Given the description of an element on the screen output the (x, y) to click on. 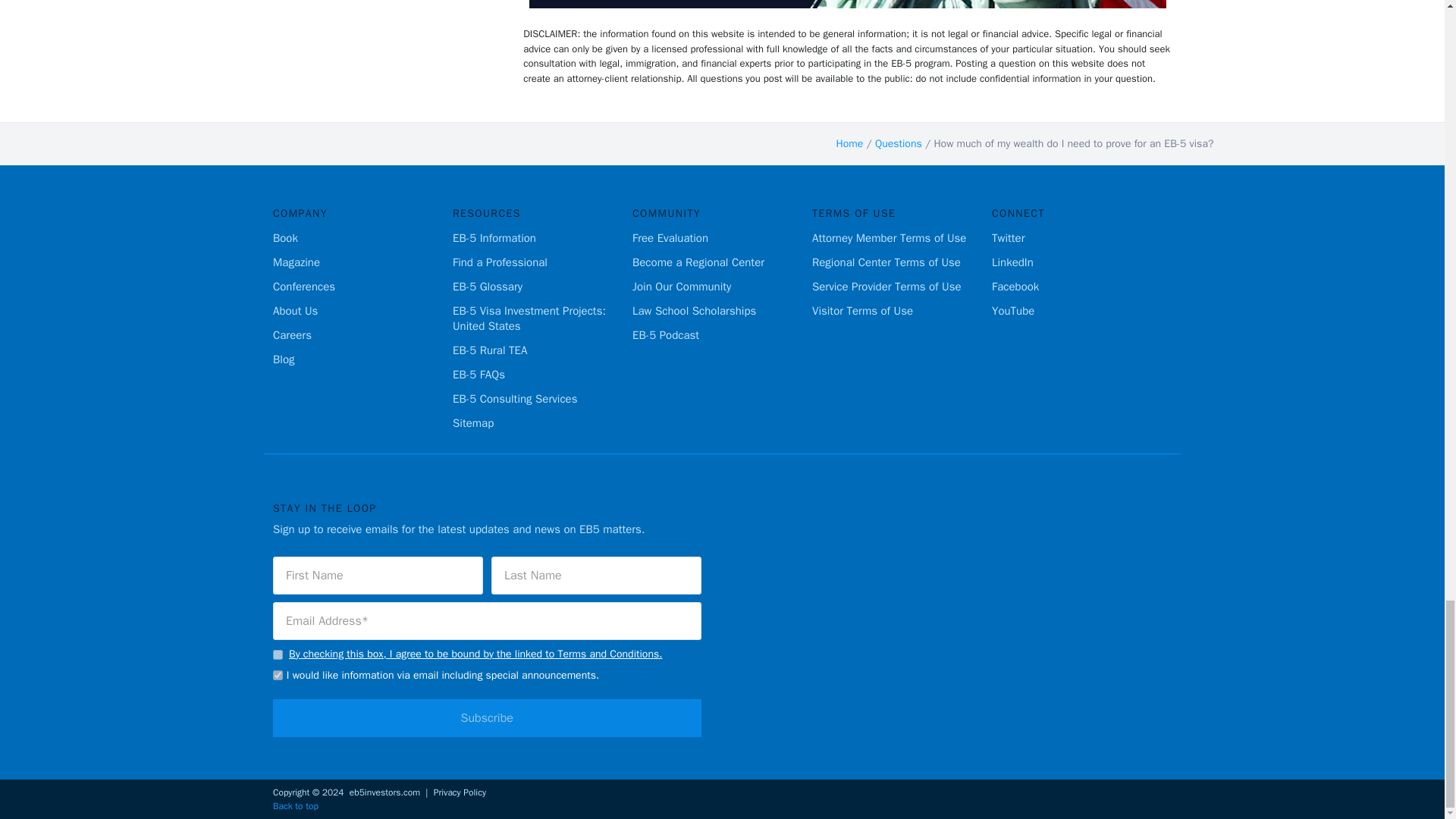
1 (277, 655)
Subscribe (487, 717)
